Given the description of an element on the screen output the (x, y) to click on. 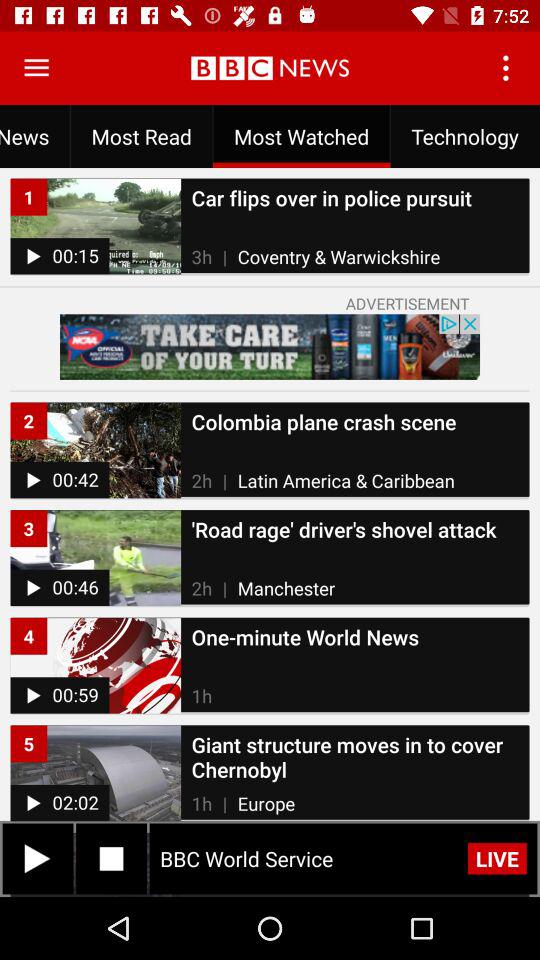
click on the banner (270, 346)
